Given the description of an element on the screen output the (x, y) to click on. 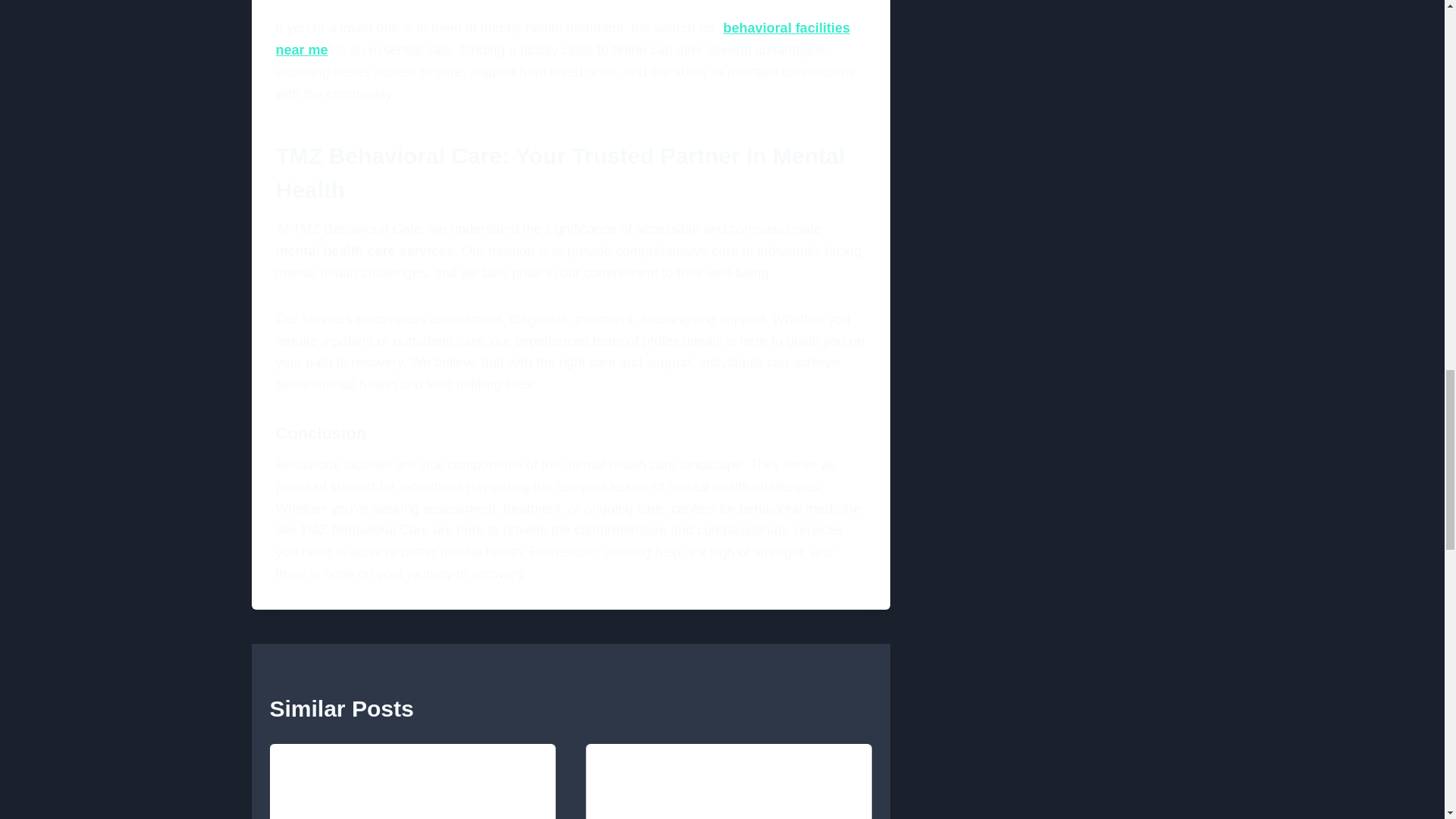
What Are The Postoperative Steps After Tooth Extraction? (412, 781)
behavioral facilities near me (563, 38)
